Given the description of an element on the screen output the (x, y) to click on. 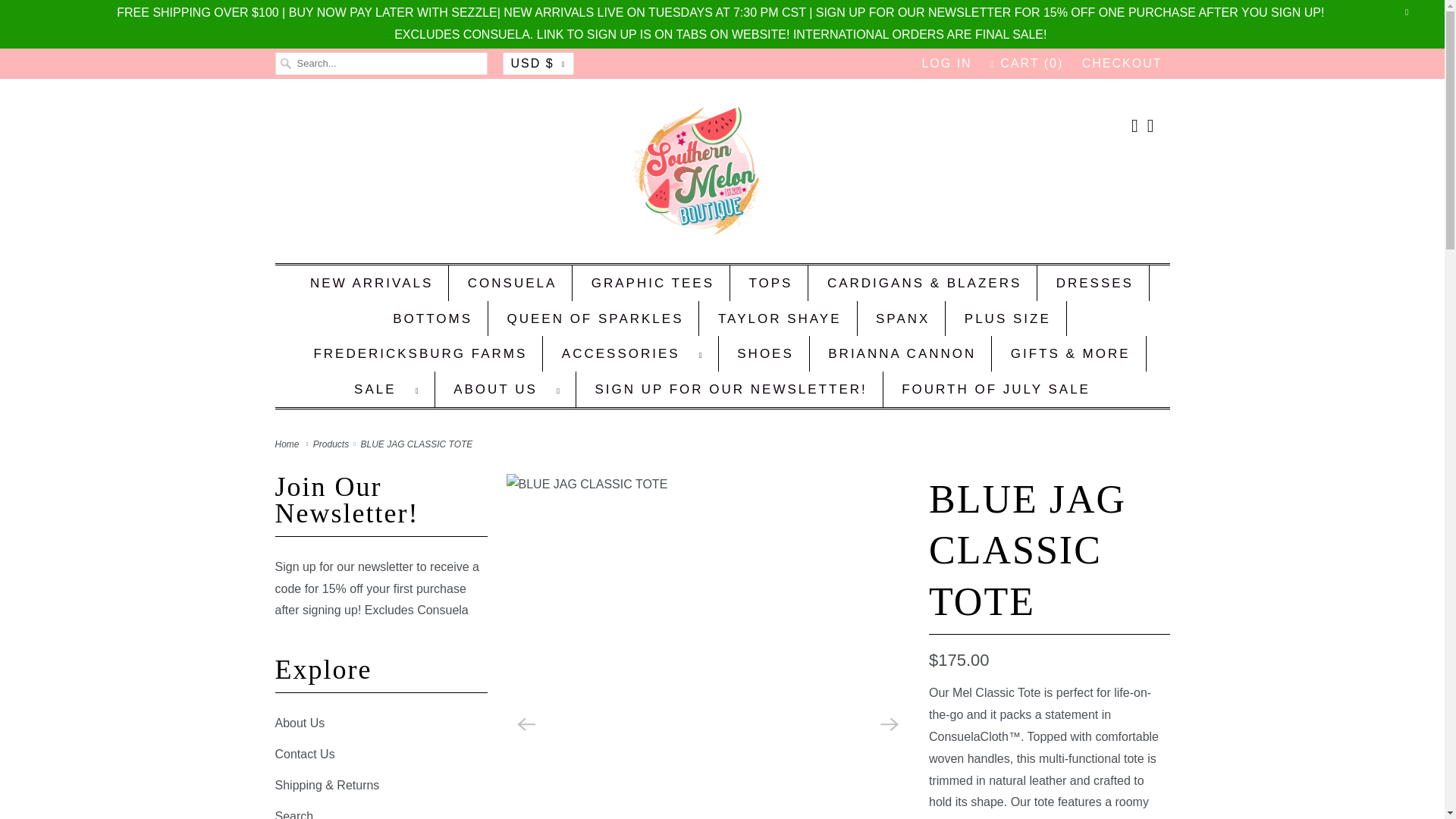
Products (332, 443)
Shop Southern Melon Boutique (288, 443)
Shop Southern Melon Boutique (722, 174)
